Given the description of an element on the screen output the (x, y) to click on. 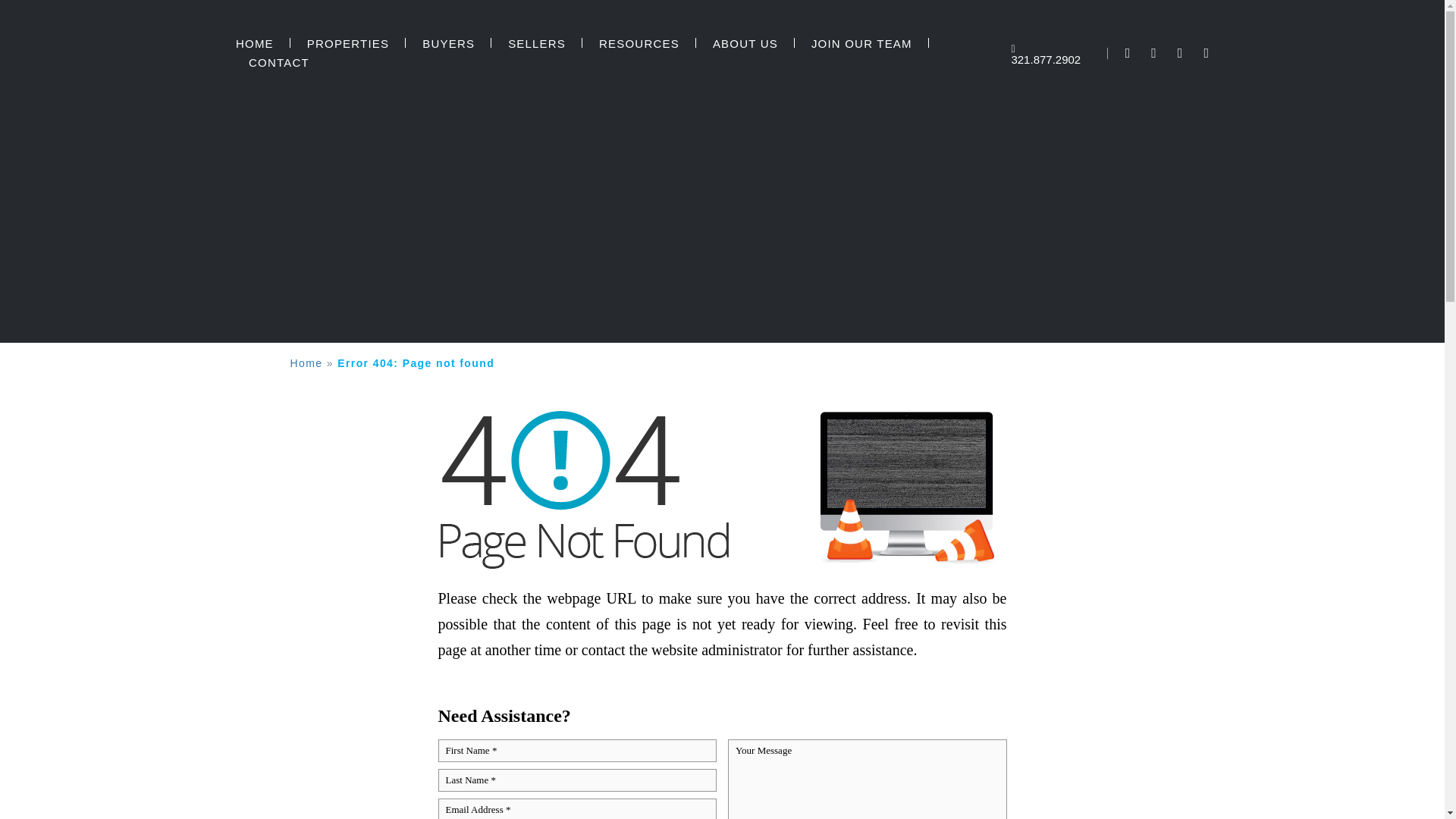
PROPERTIES (347, 43)
HOME (254, 43)
